Given the description of an element on the screen output the (x, y) to click on. 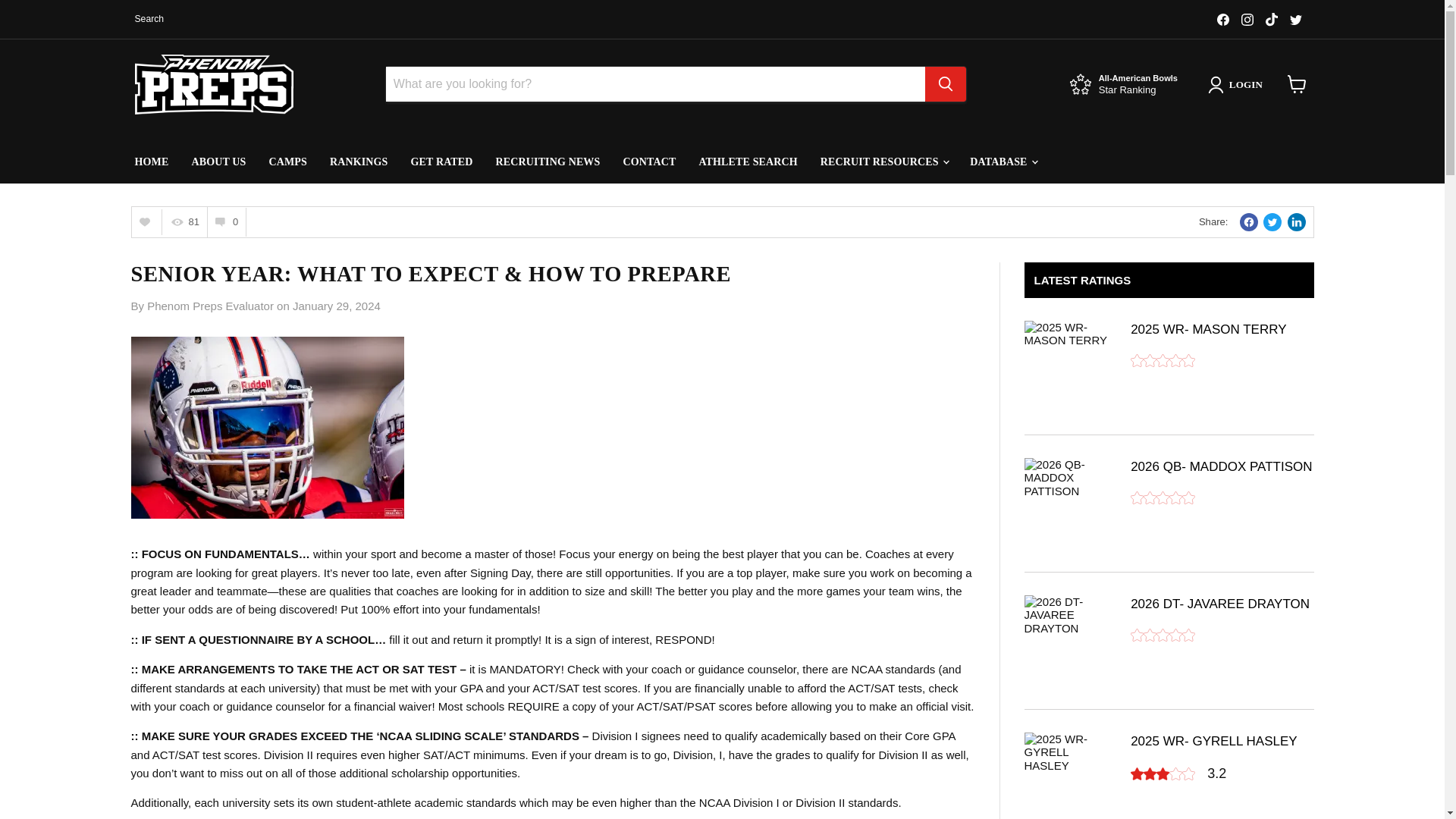
HOME (150, 161)
Twitter (1123, 84)
ATHLETE SEARCH (1295, 19)
Instagram (747, 161)
Find us on Facebook (1246, 19)
Find us on Instagram (1222, 19)
ABOUT US (1246, 19)
Find us on TikTok (218, 161)
Find us on Twitter (1271, 19)
